Given the description of an element on the screen output the (x, y) to click on. 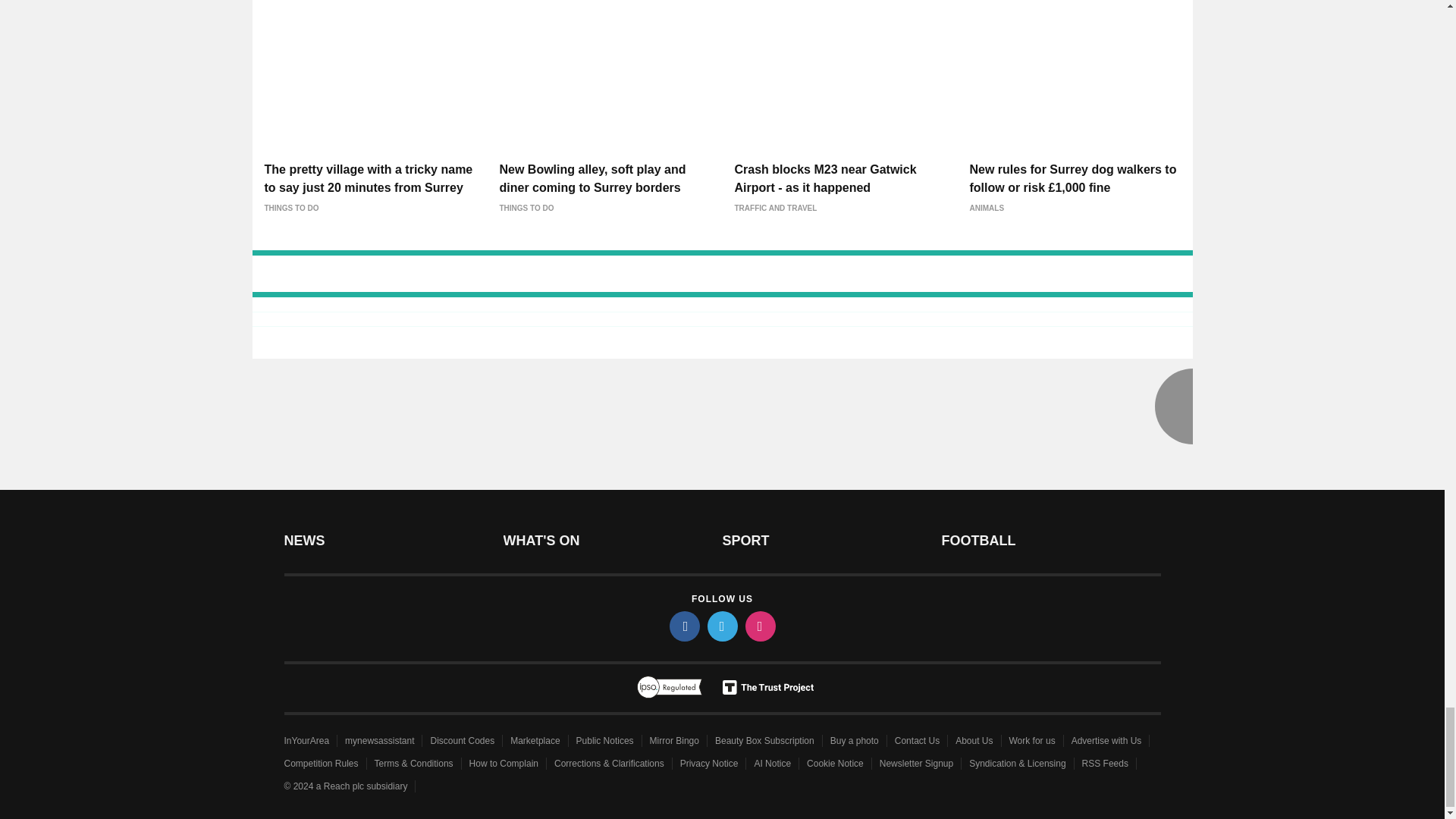
instagram (759, 625)
facebook (683, 625)
twitter (721, 625)
